Given the description of an element on the screen output the (x, y) to click on. 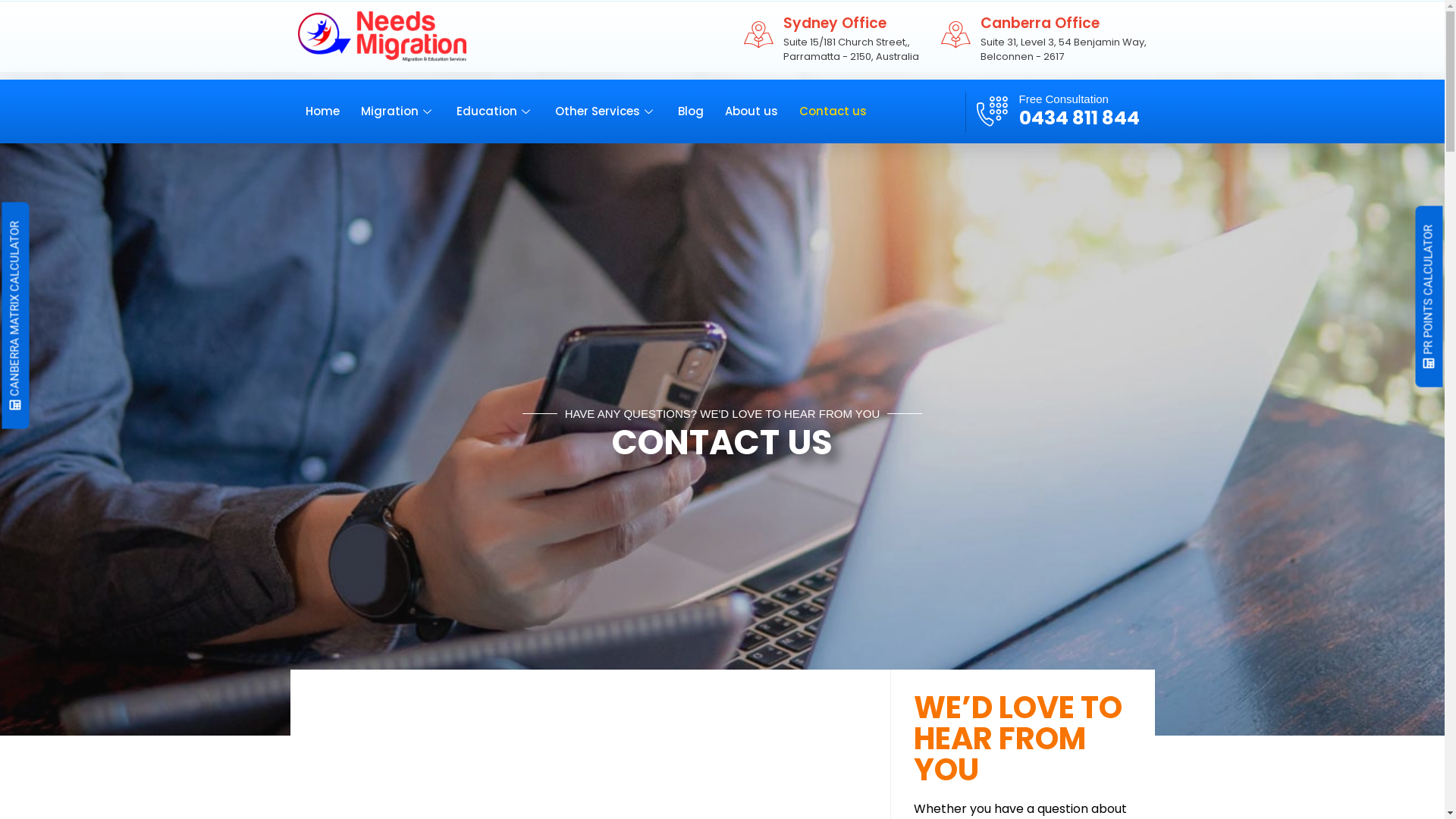
0434 811 844 Element type: text (1079, 117)
Migration Element type: text (408, 111)
Other Services Element type: text (616, 111)
CANBERRA MATRIX CALCULATOR Element type: text (114, 215)
Education Element type: text (505, 111)
Blog Element type: text (700, 111)
About us Element type: text (761, 111)
Contact us Element type: text (843, 111)
Home Element type: text (332, 111)
